Given the description of an element on the screen output the (x, y) to click on. 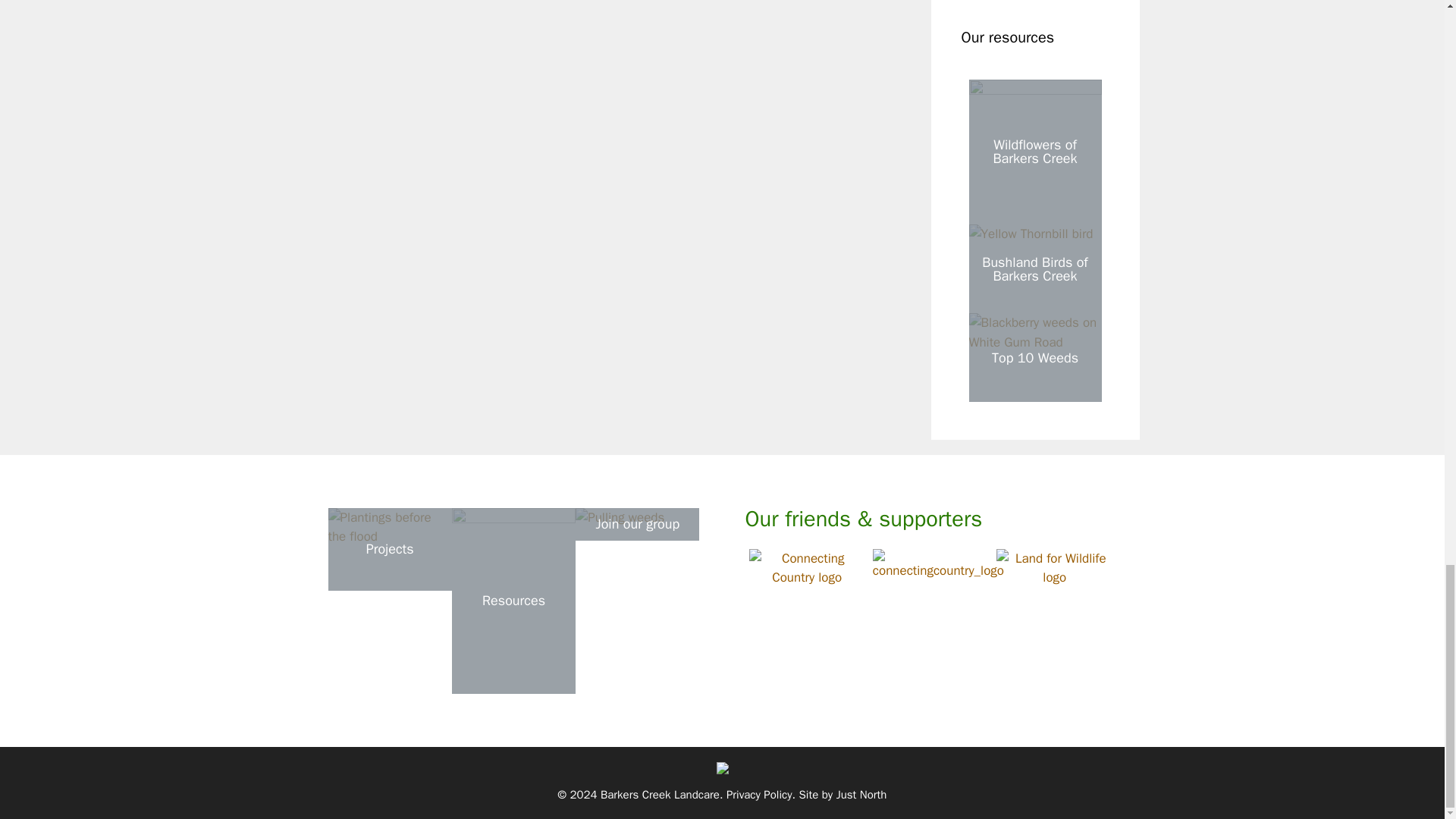
Land-for-Wildlife (1053, 568)
landcare-logo (806, 568)
